Given the description of an element on the screen output the (x, y) to click on. 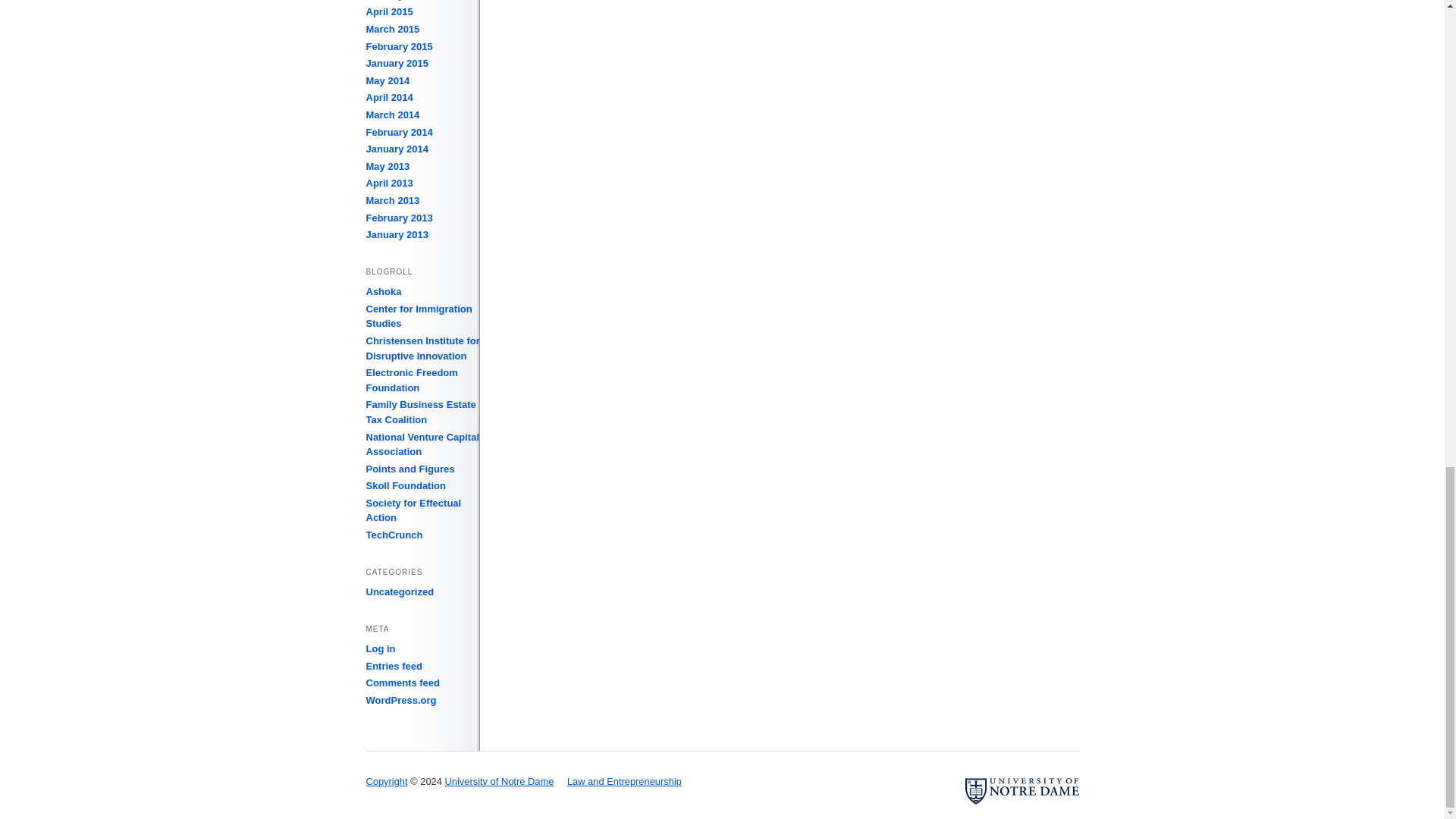
One of the premier sites for social entrepreneurship (383, 291)
the latest technology news and information on startups (393, 534)
